Given the description of an element on the screen output the (x, y) to click on. 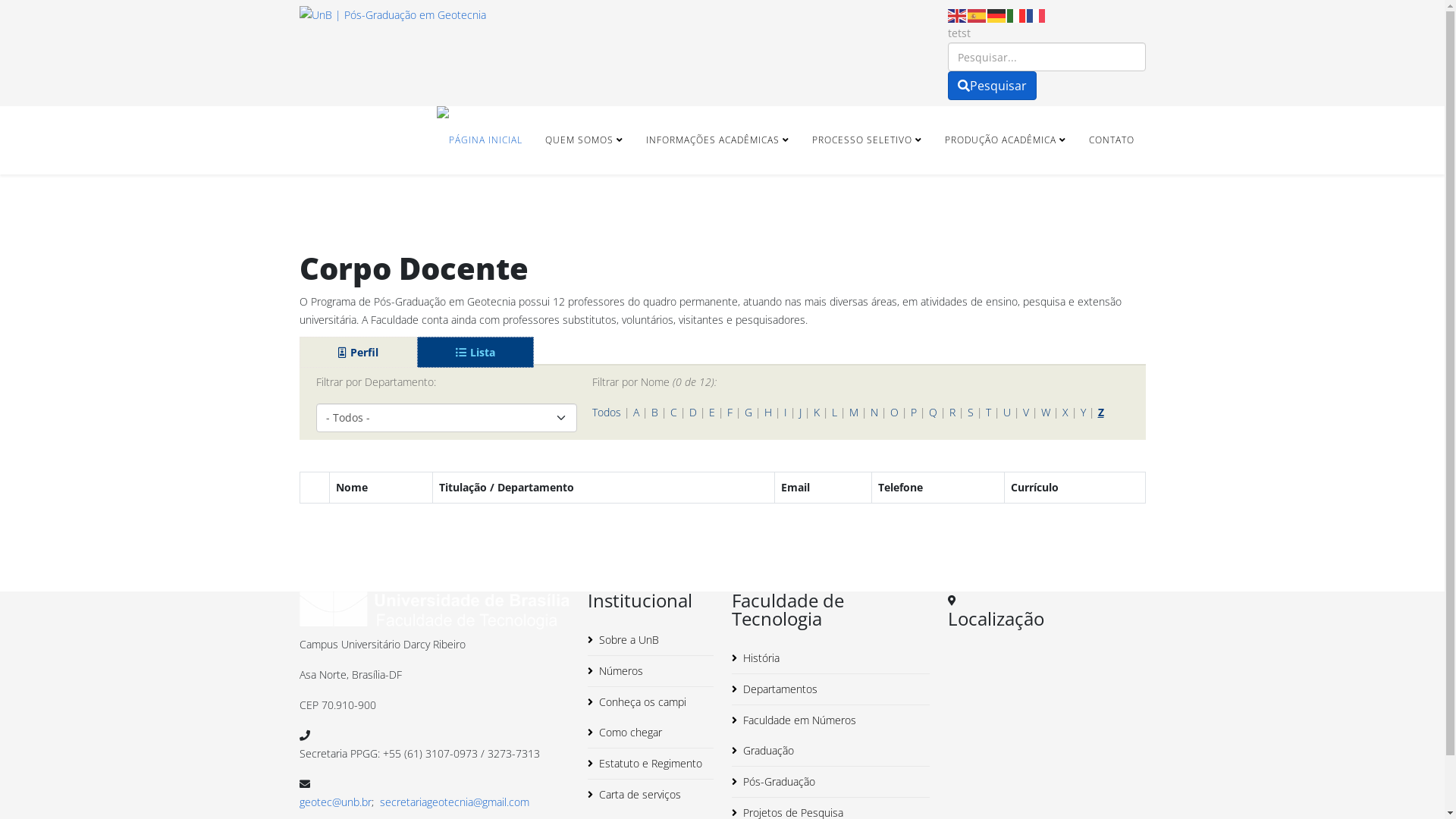
A Element type: text (635, 411)
G Element type: text (748, 411)
M Element type: text (853, 411)
Todos Element type: text (605, 411)
English Element type: hover (957, 14)
T Element type: text (988, 411)
V Element type: text (1025, 411)
PROCESSO SELETIVO Element type: text (866, 140)
P Element type: text (913, 411)
S Element type: text (970, 411)
Q Element type: text (932, 411)
N Element type: text (874, 411)
H Element type: text (767, 411)
geotec@unb.br Element type: text (334, 801)
QUEM SOMOS Element type: text (583, 140)
O Element type: text (894, 411)
I Element type: text (785, 411)
Estatuto e Regimento Element type: text (649, 763)
K Element type: text (815, 411)
C Element type: text (673, 411)
L Element type: text (833, 411)
R Element type: text (952, 411)
Como chegar Element type: text (649, 732)
J Element type: text (800, 411)
CONTATO Element type: text (1110, 140)
Deutsch Element type: hover (997, 14)
Perfil Element type: text (357, 351)
Pesquisar Element type: text (991, 85)
Italiano Element type: hover (1016, 14)
Lista Element type: text (475, 351)
W Element type: text (1044, 411)
U Element type: text (1006, 411)
F Element type: text (728, 411)
X Element type: text (1064, 411)
D Element type: text (692, 411)
Y Element type: text (1082, 411)
secretariageotecnia@gmail.com Element type: text (453, 801)
Z Element type: text (1101, 411)
Departamentos Element type: text (829, 689)
B Element type: text (653, 411)
Sobre a UnB Element type: text (649, 639)
E Element type: text (711, 411)
